Given the description of an element on the screen output the (x, y) to click on. 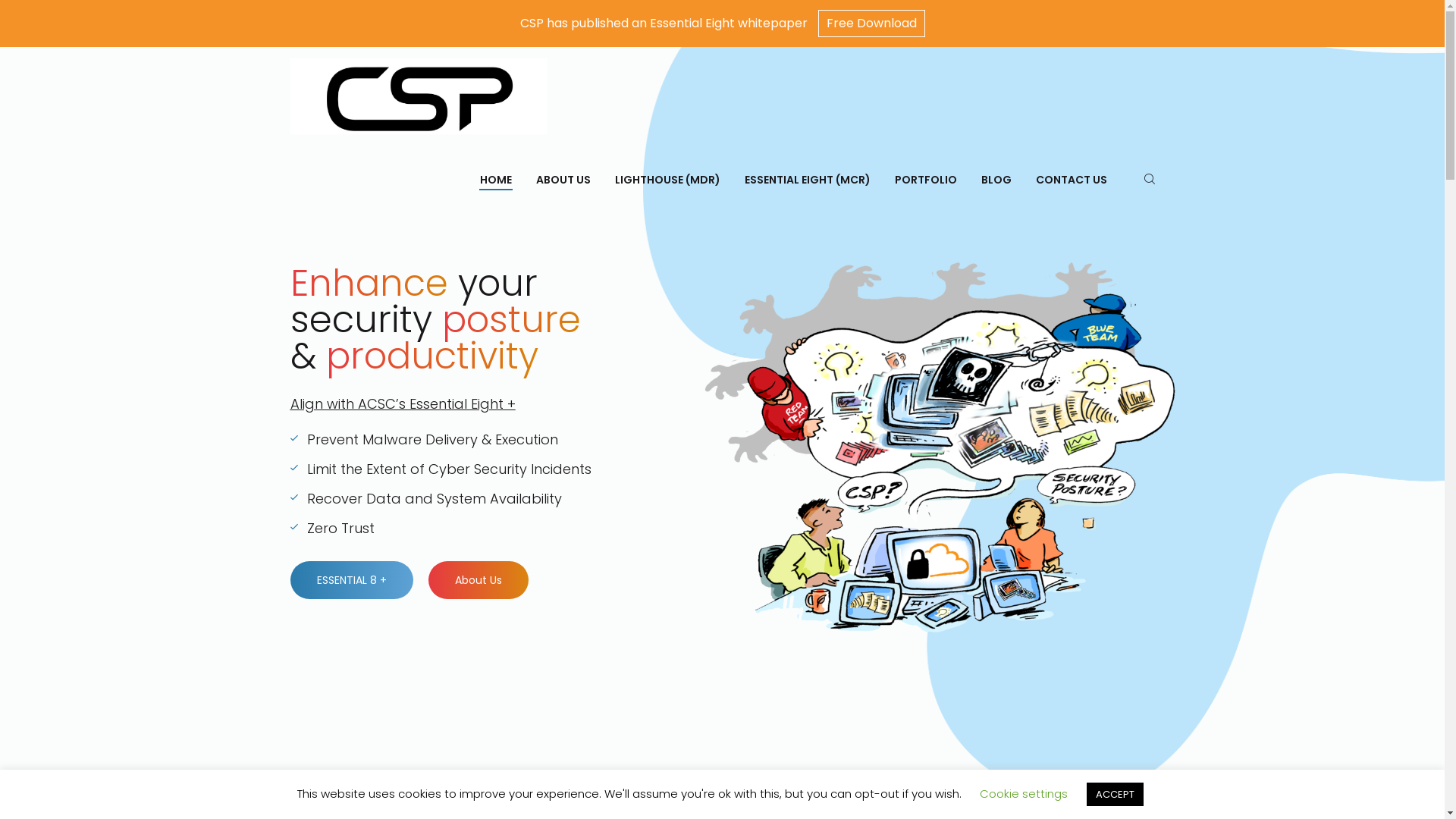
ABOUT US Element type: text (562, 179)
PORTFOLIO Element type: text (925, 179)
ESSENTIAL EIGHT (MCR) Element type: text (807, 179)
CONTACT US Element type: text (1071, 179)
Cookie settings Element type: text (1023, 793)
BLOG Element type: text (996, 179)
LIGHTHOUSE (MDR) Element type: text (666, 179)
ACCEPT Element type: text (1114, 794)
HOME Element type: text (495, 179)
About Us Element type: text (477, 580)
Free Download Element type: text (870, 23)
ESSENTIAL 8 + Element type: text (350, 580)
